Given the description of an element on the screen output the (x, y) to click on. 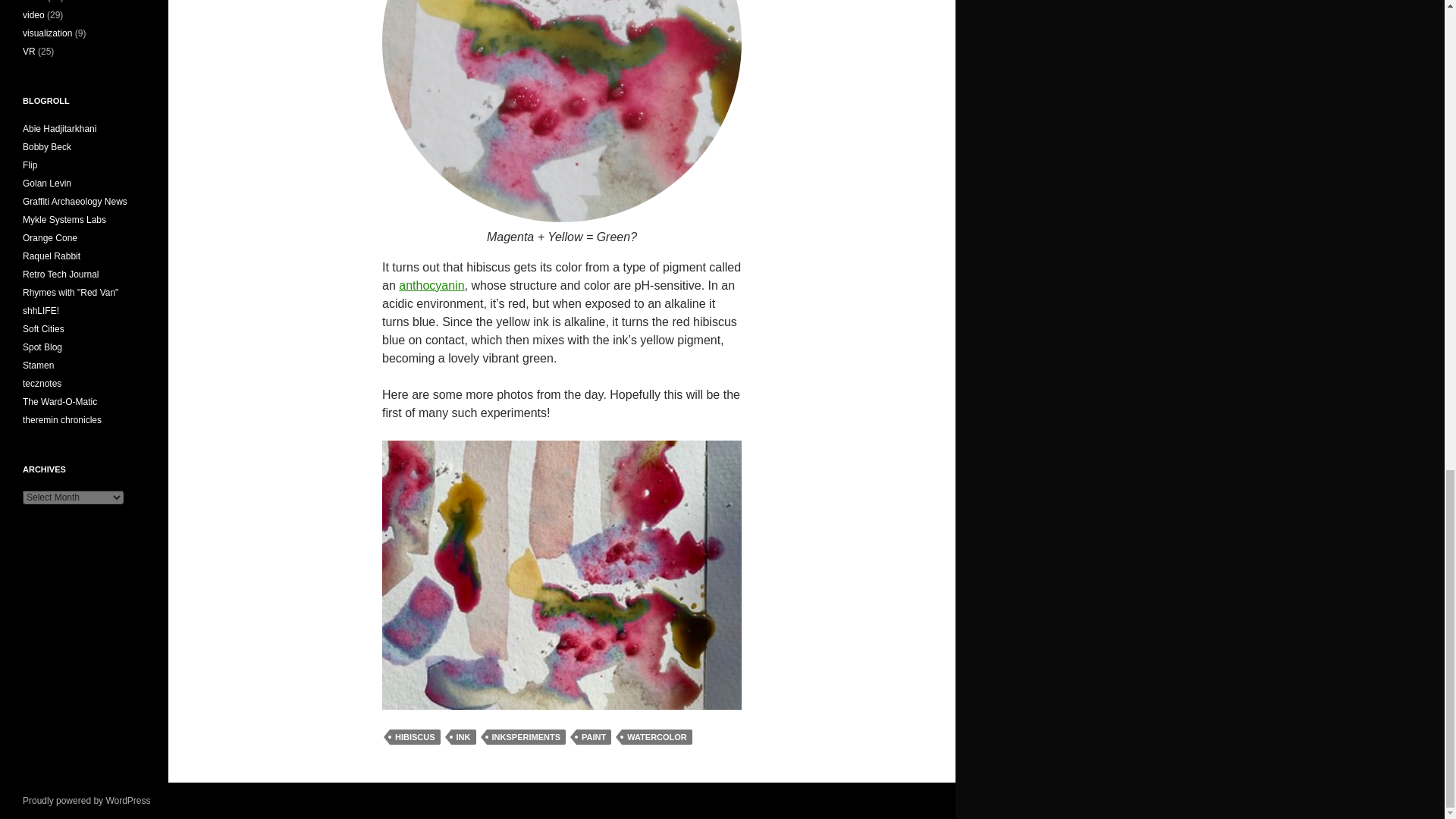
the one and only Raquel Coelho (51, 255)
Boom! (47, 146)
HIBISCUS (415, 736)
Tales of Creation and Recreation (61, 274)
Mike Kuniavsky (50, 237)
INKSPERIMENTS (526, 736)
custom printed map blankets! (43, 328)
anthocyanin (431, 285)
INK (463, 736)
WATERCOLOR (657, 736)
